Given the description of an element on the screen output the (x, y) to click on. 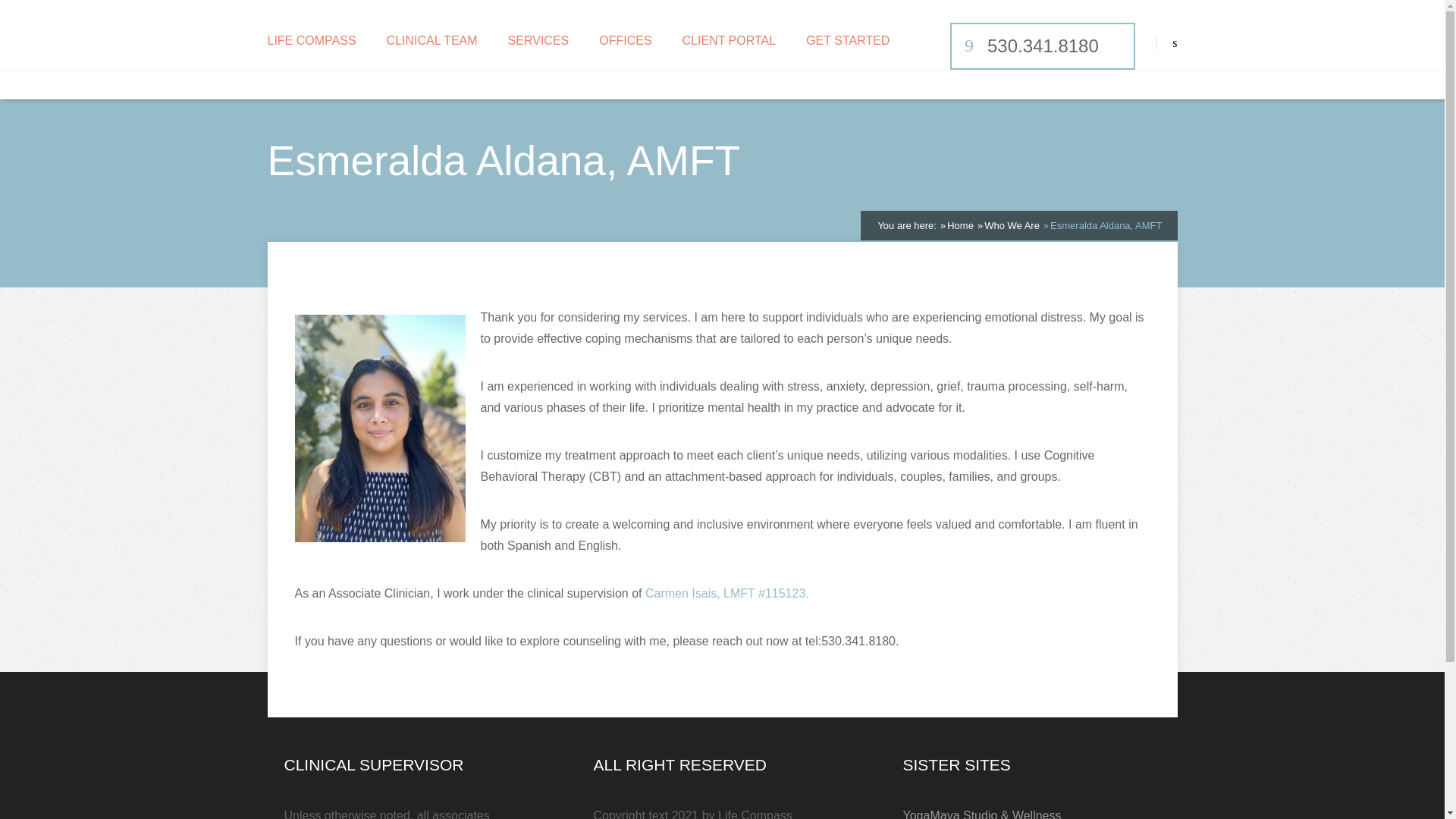
Home (960, 225)
Who We Are (1011, 225)
530.341.8180 (1042, 46)
SERVICES (538, 40)
OFFICES (624, 40)
CLINICAL TEAM (432, 40)
CLIENT PORTAL (729, 40)
GET STARTED (847, 40)
LIFE COMPASS (310, 40)
